Given the description of an element on the screen output the (x, y) to click on. 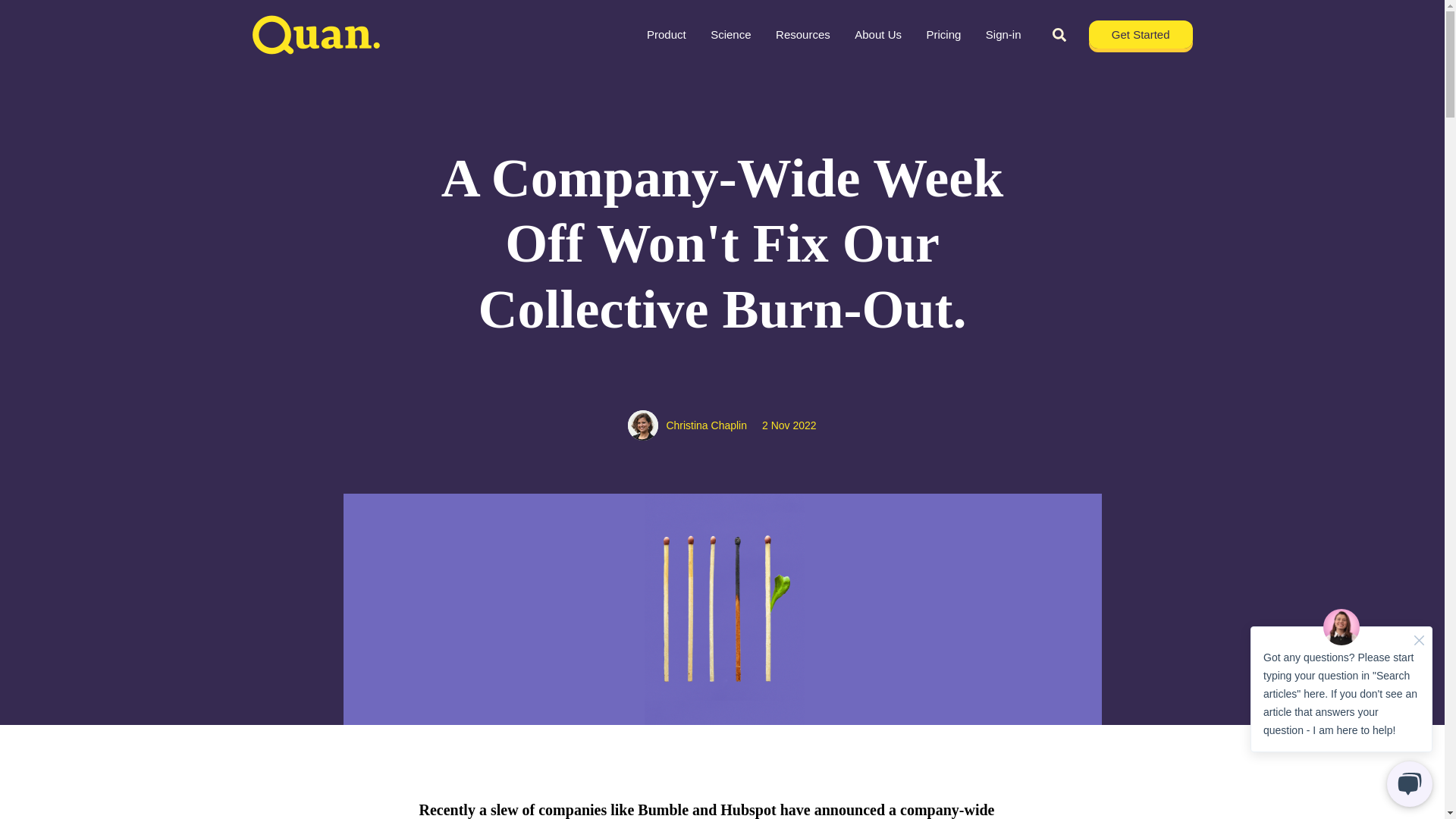
Sign-in (1002, 35)
Get Started (1140, 34)
About Us (877, 35)
Search toggle (1058, 34)
Pricing (943, 35)
Product (666, 35)
Science (730, 35)
Resources (802, 35)
Christina Chaplin (705, 425)
